Given the description of an element on the screen output the (x, y) to click on. 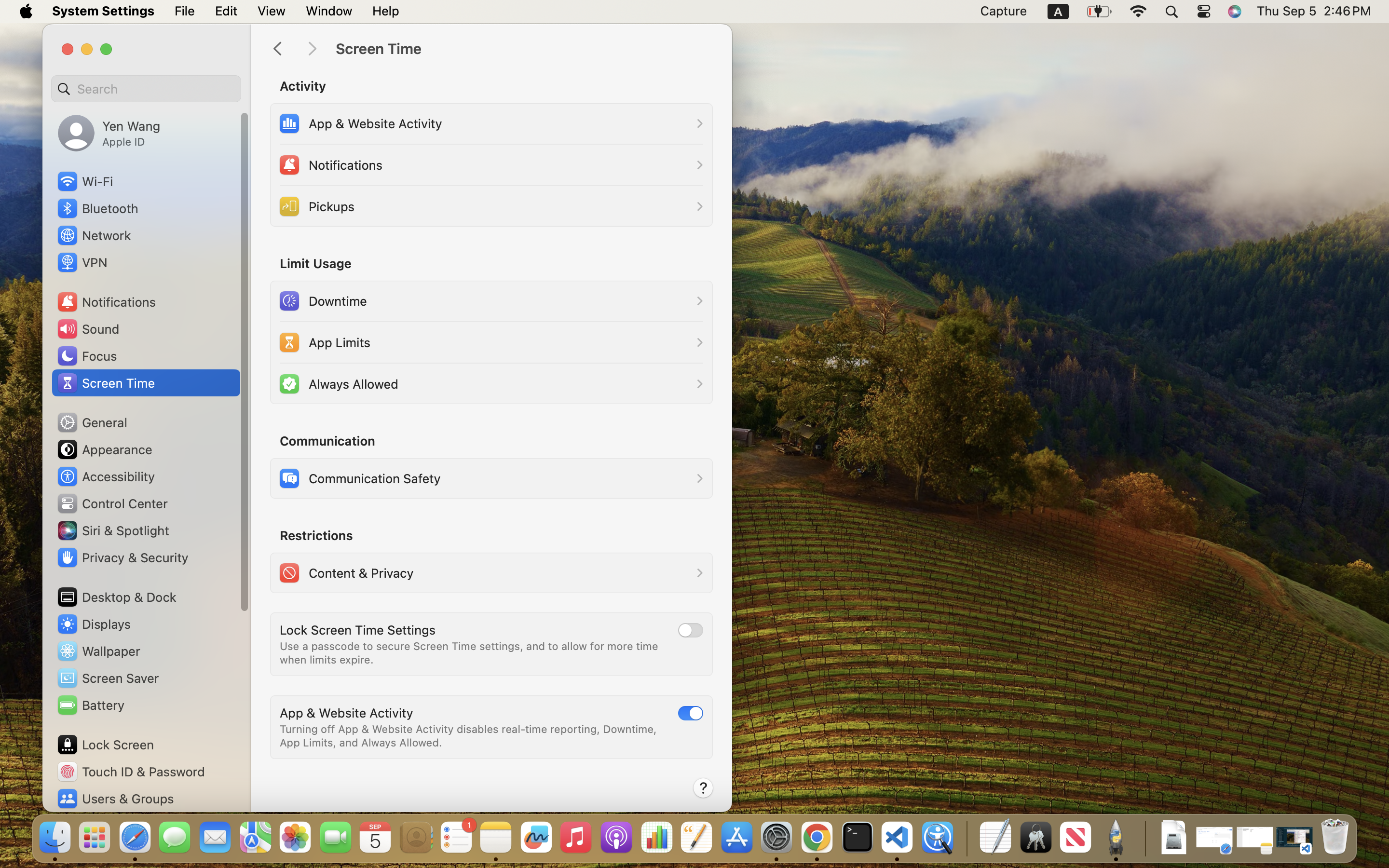
Control Center Element type: AXStaticText (111, 503)
App & Website Activity Element type: AXStaticText (345, 712)
Focus Element type: AXStaticText (85, 355)
1 Element type: AXCheckBox (690, 712)
General Element type: AXStaticText (91, 422)
